Given the description of an element on the screen output the (x, y) to click on. 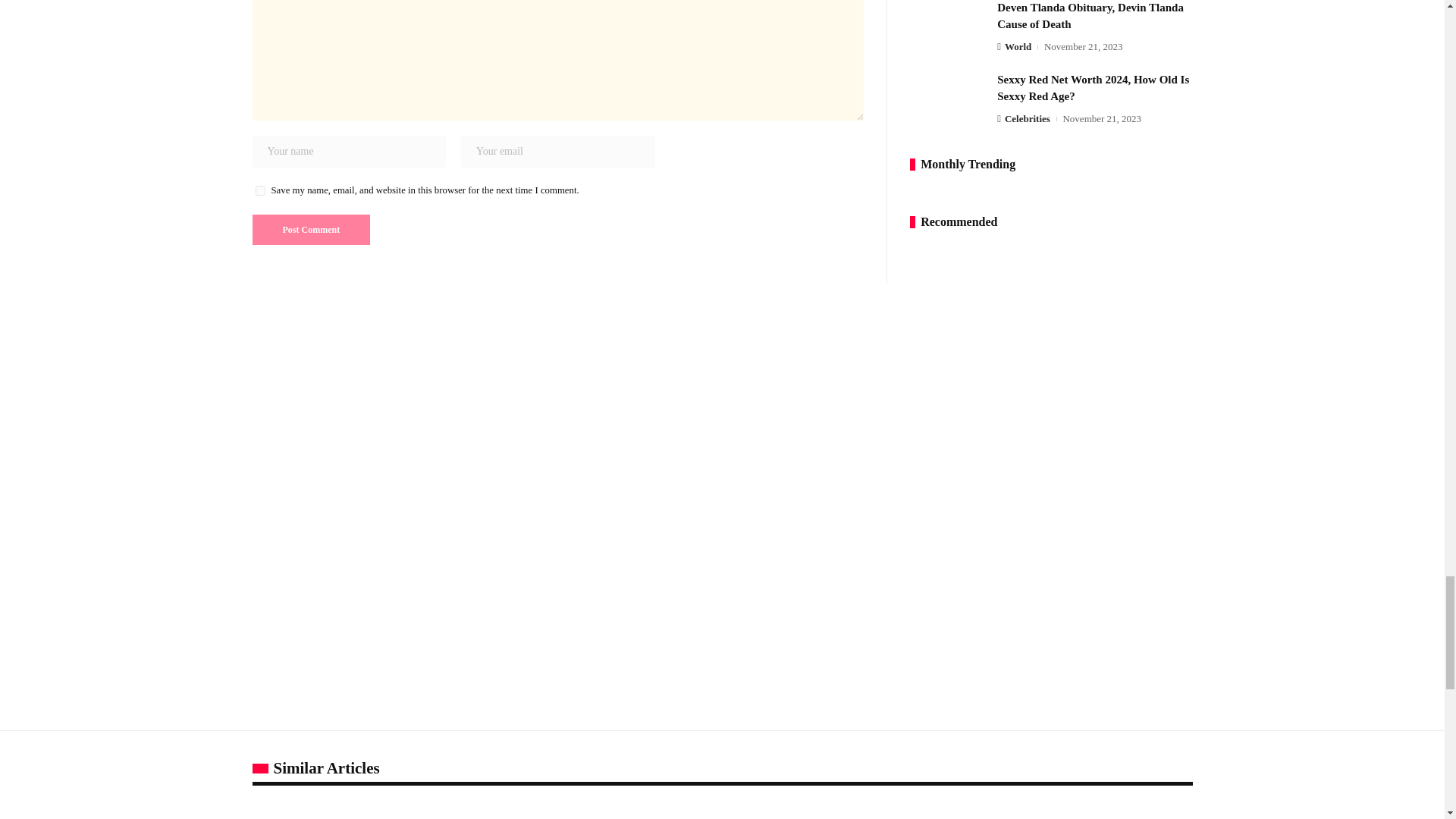
Post Comment (310, 229)
yes (259, 190)
